Given the description of an element on the screen output the (x, y) to click on. 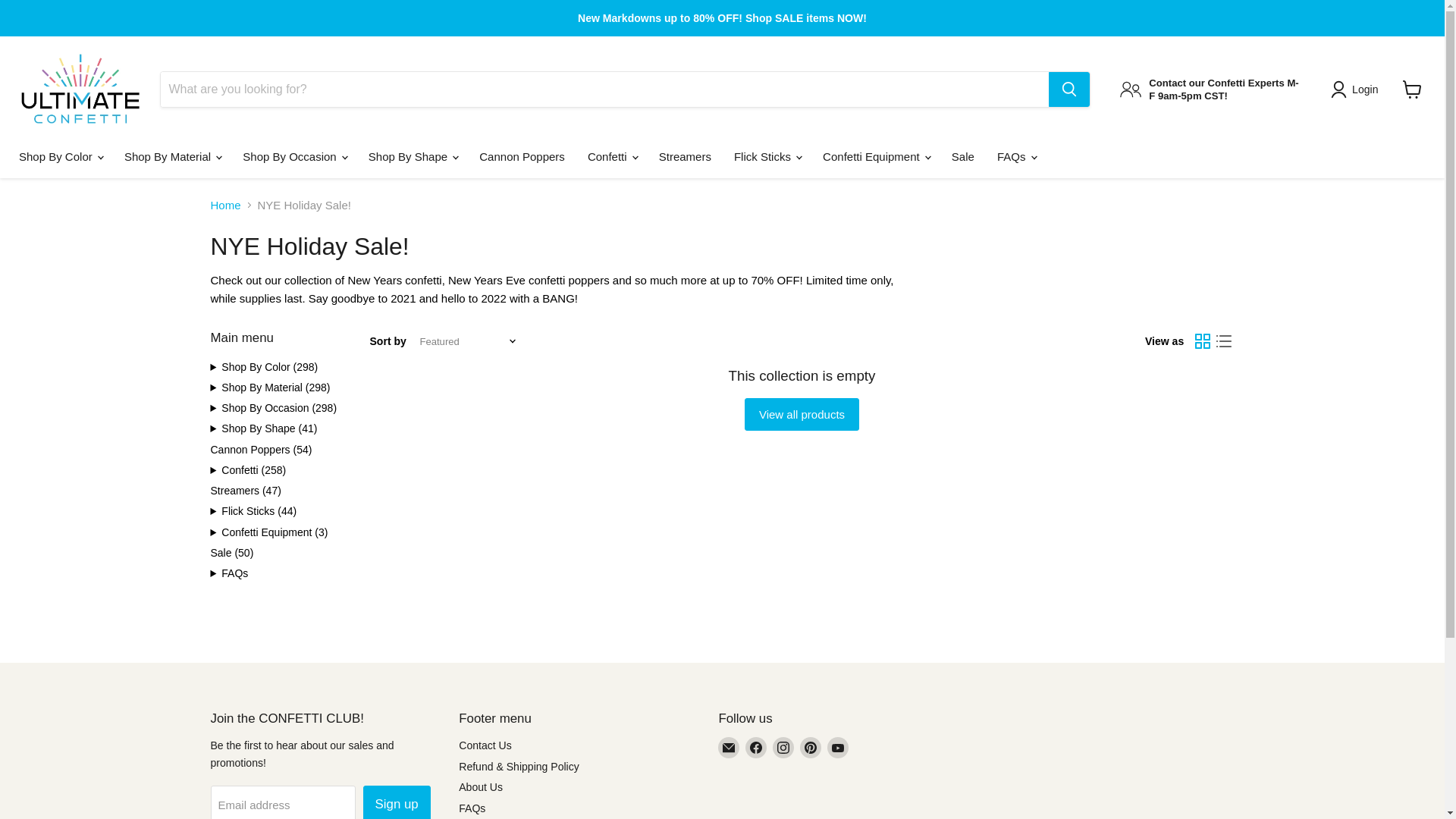
Email (728, 747)
Login (1357, 89)
Pinterest (810, 747)
YouTube (837, 747)
Instagram (783, 747)
Contact our Confetti Experts M-F 9am-5pm CST! (1209, 89)
Facebook (756, 747)
View cart (1411, 89)
